Given the description of an element on the screen output the (x, y) to click on. 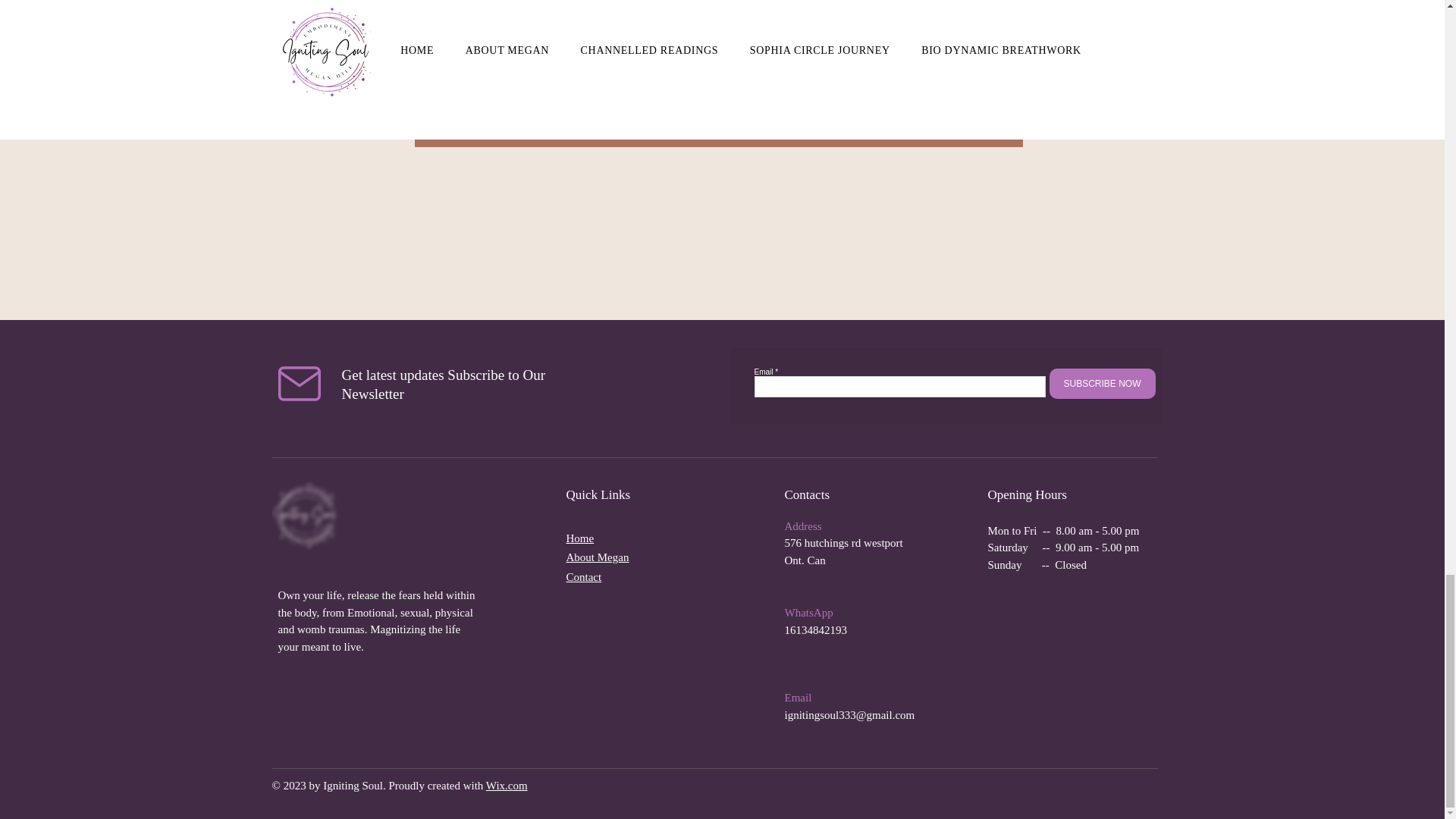
About Megan (597, 557)
SUBSCRIBE NOW (1102, 383)
Home (580, 538)
Wix.com (506, 785)
Register for this Free experience (717, 133)
Contact (583, 576)
